Given the description of an element on the screen output the (x, y) to click on. 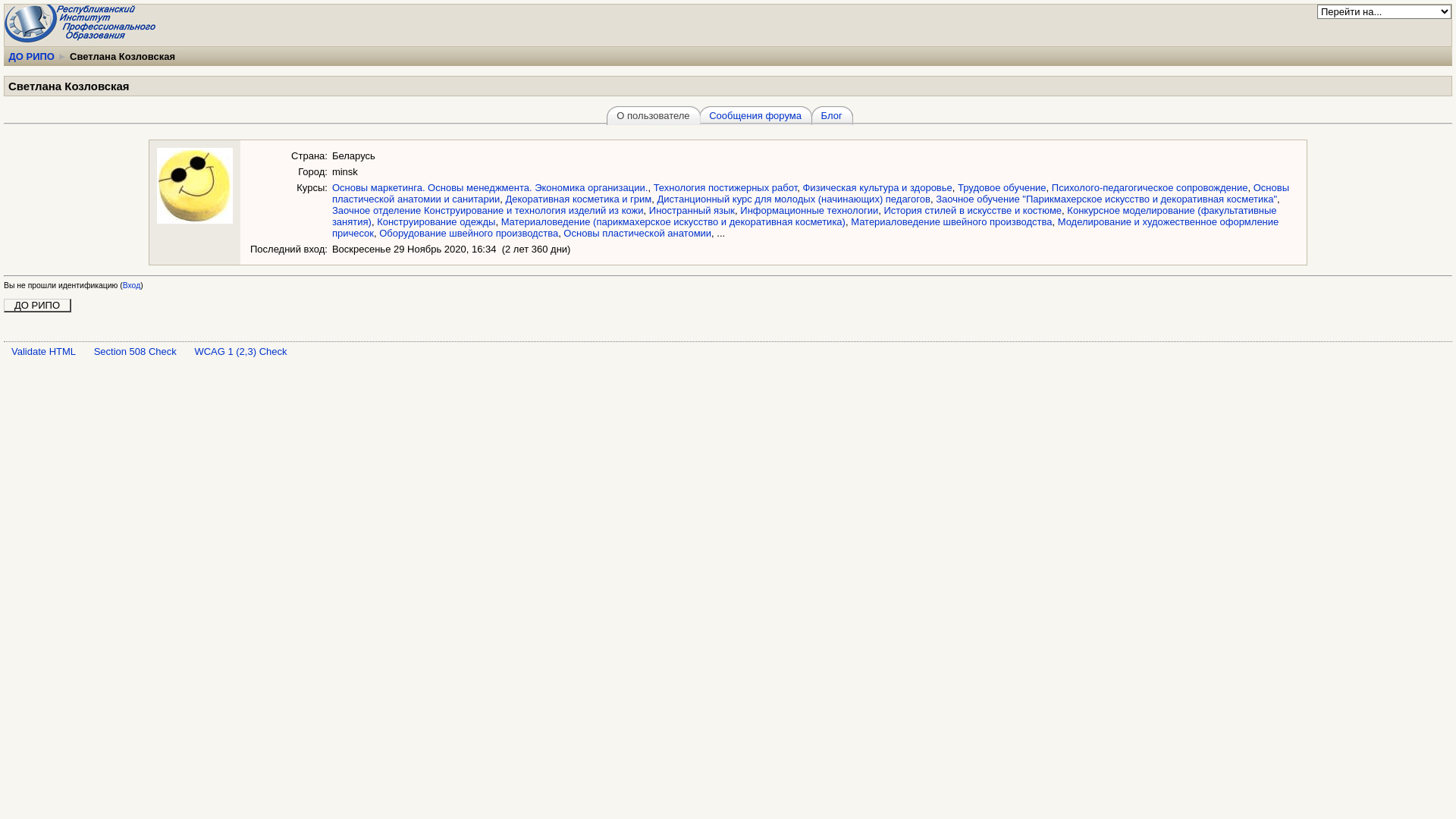
WCAG 1 (2,3) Check Element type: text (240, 351)
Validate HTML Element type: text (43, 351)
Section 508 Check Element type: text (135, 351)
